Given the description of an element on the screen output the (x, y) to click on. 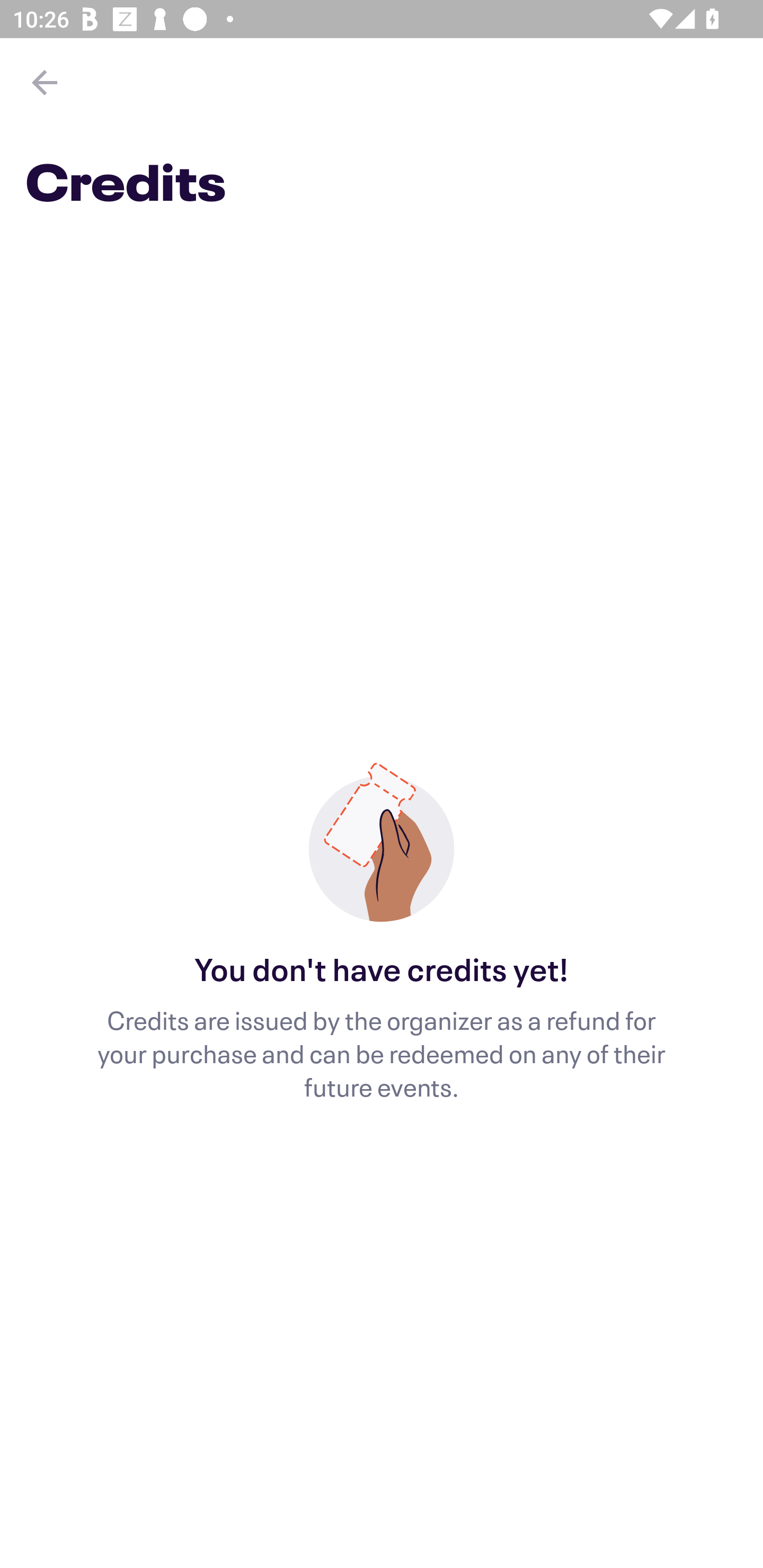
Navigate up (44, 82)
